Given the description of an element on the screen output the (x, y) to click on. 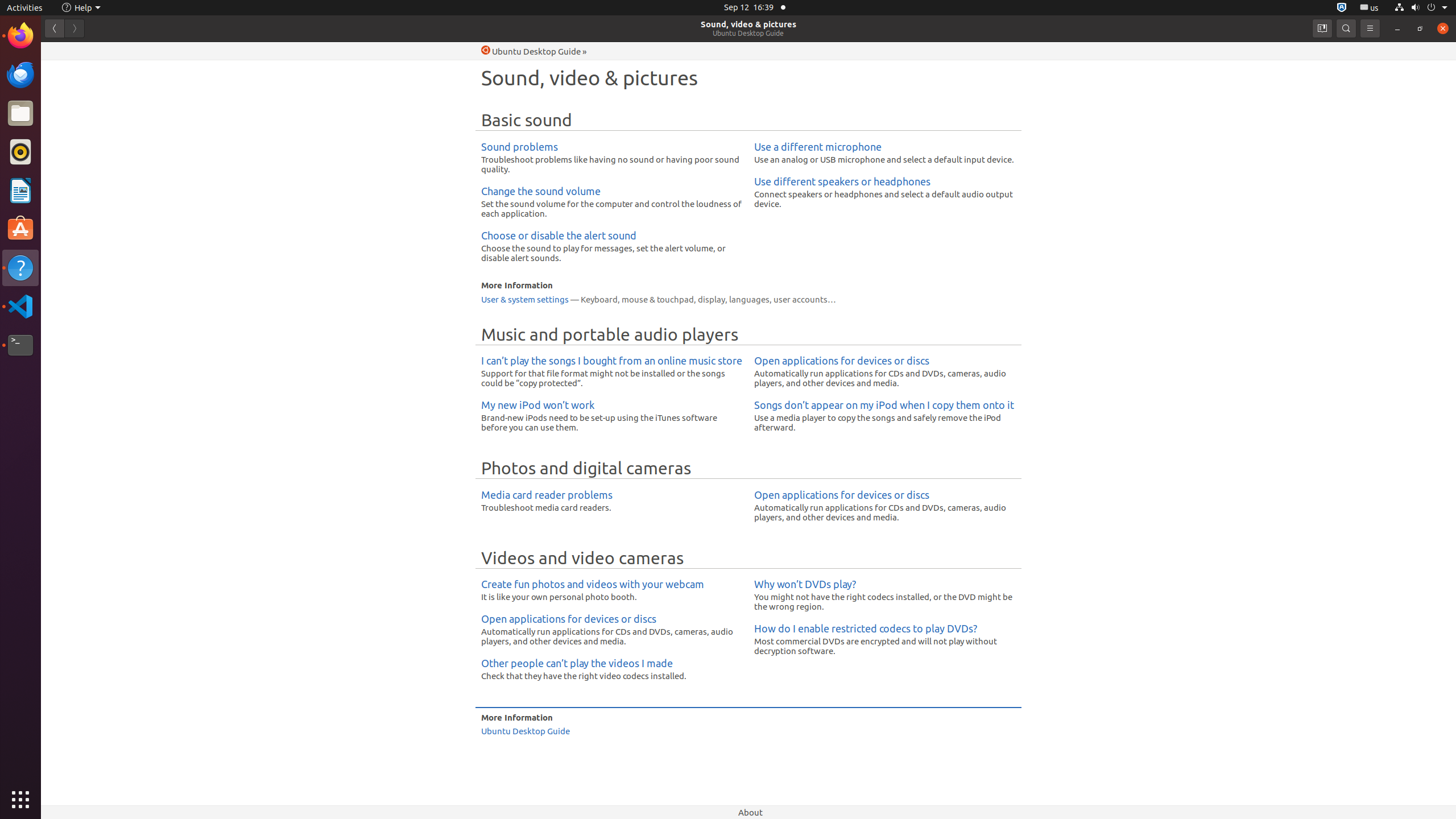
Activities Element type: label (24, 7)
Media card reader problems Troubleshoot media card readers. Element type: link (611, 500)
Use a different microphone Use an analog or USB microphone and select a default input device. Element type: link (884, 152)
Trash Element type: label (75, 108)
